Given the description of an element on the screen output the (x, y) to click on. 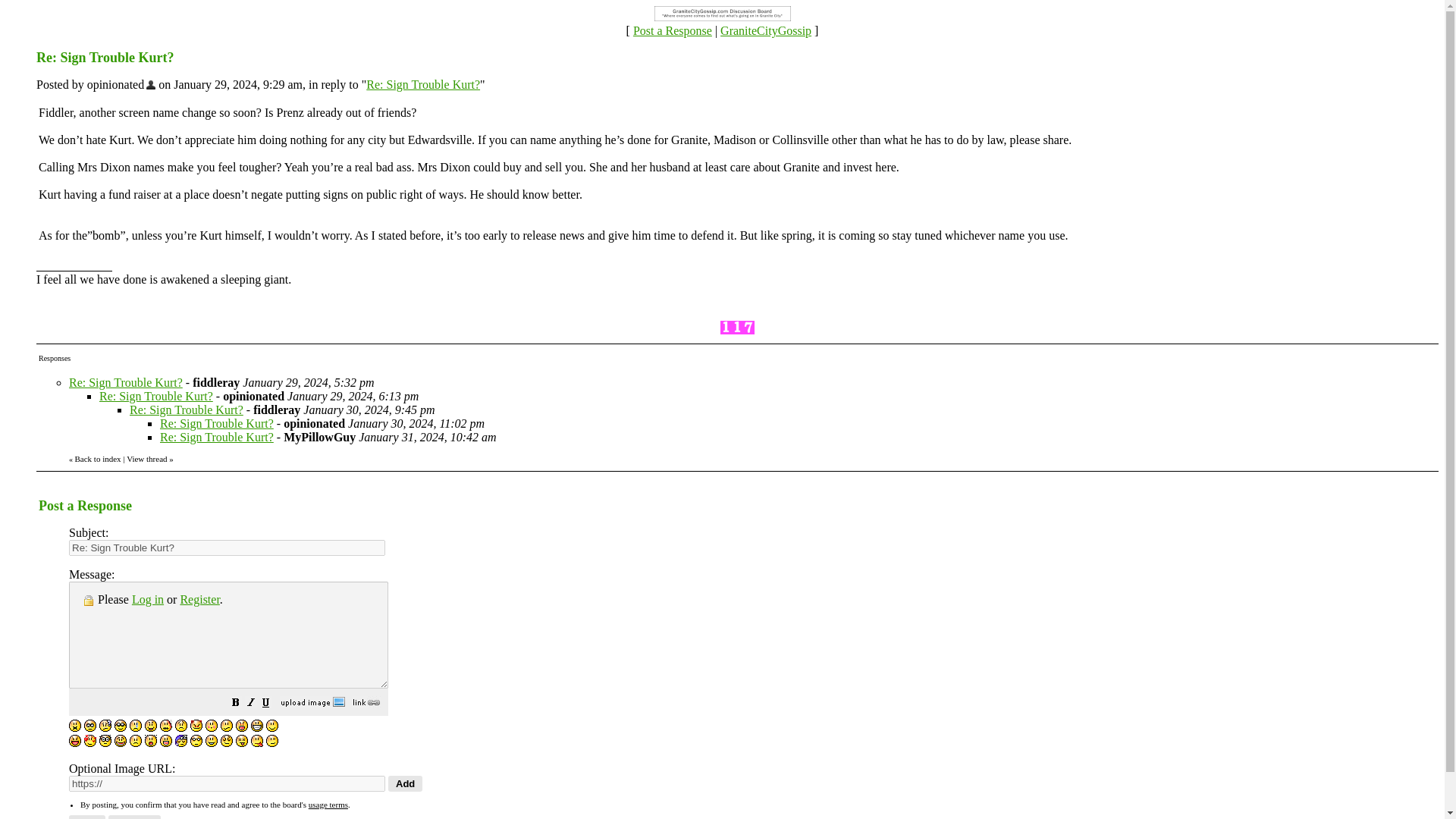
Preview (133, 816)
Re: Sign Trouble Kurt? (216, 422)
Register (199, 599)
Re: Sign Trouble Kurt? (155, 395)
Re: Sign Trouble Kurt? (216, 436)
Add (405, 783)
Log in (147, 599)
Responses (54, 356)
Re: Sign Trouble Kurt? (186, 409)
Re: Sign Trouble Kurt? (125, 382)
Re: Sign Trouble Kurt? (423, 83)
GraniteCityGossip (765, 30)
Back to index (97, 459)
Upload Image (312, 703)
View thread (146, 458)
